Given the description of an element on the screen output the (x, y) to click on. 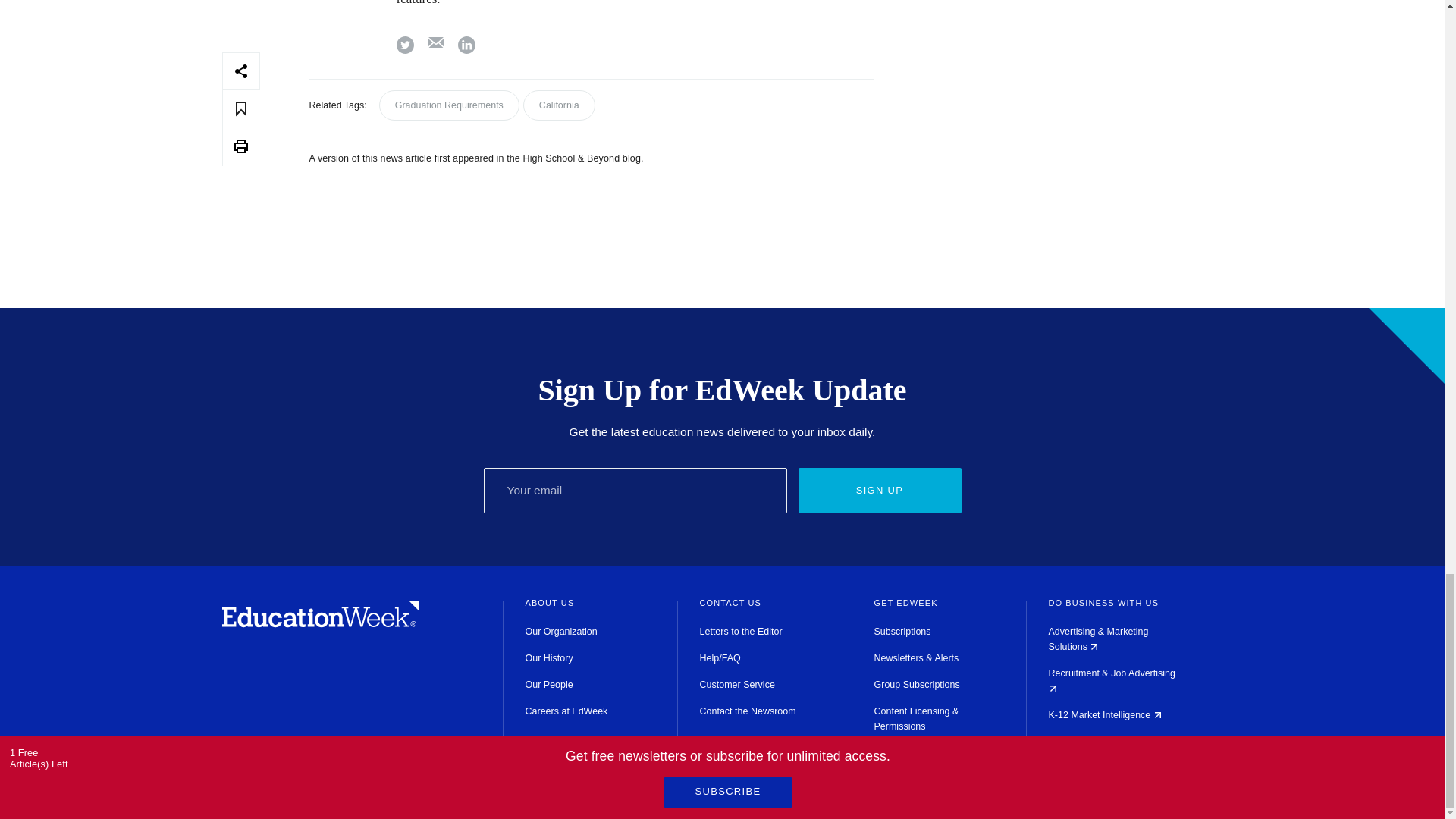
3rd party ad content (1070, 113)
Homepage (320, 623)
